Given the description of an element on the screen output the (x, y) to click on. 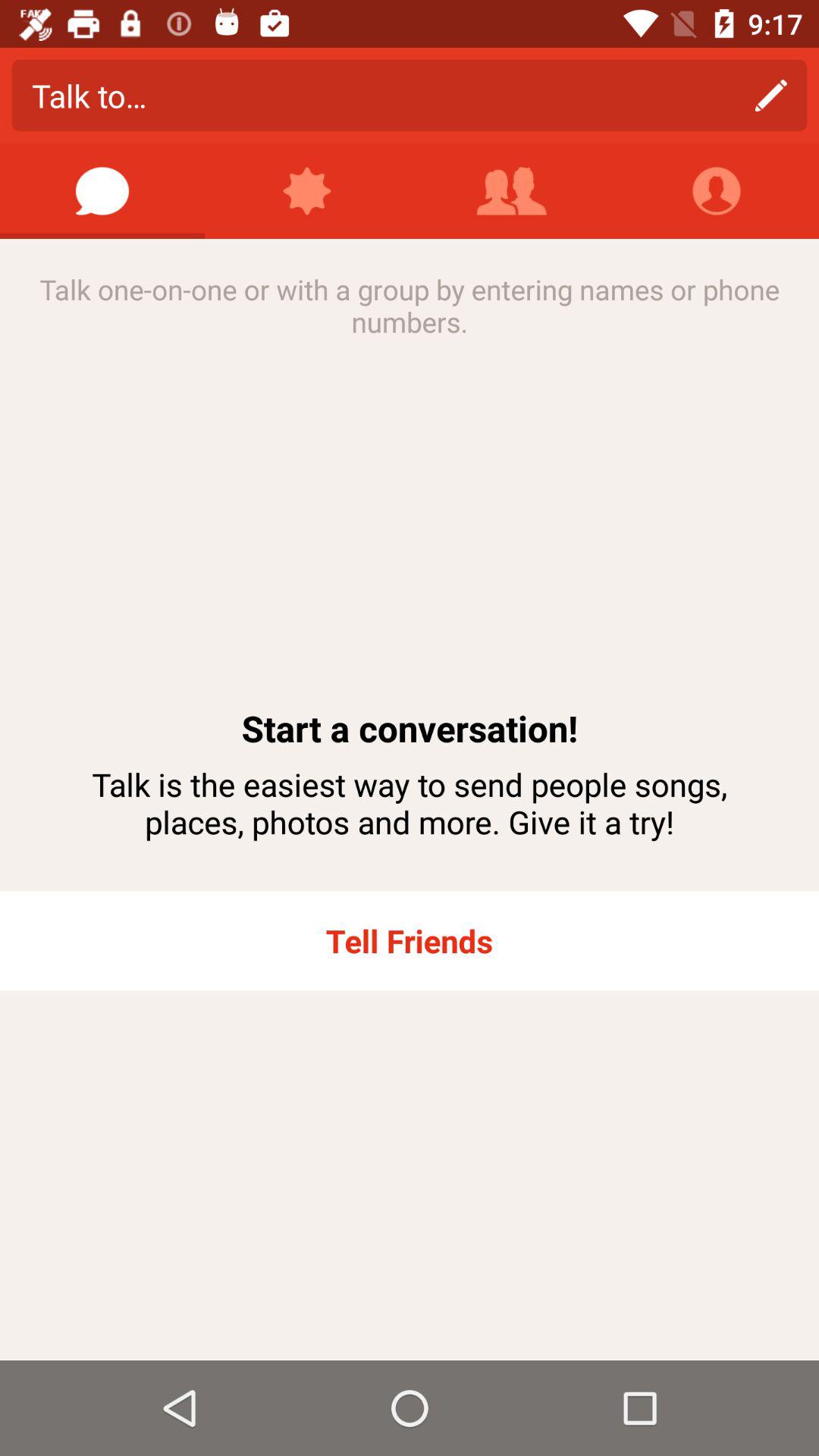
start a message (102, 190)
